Given the description of an element on the screen output the (x, y) to click on. 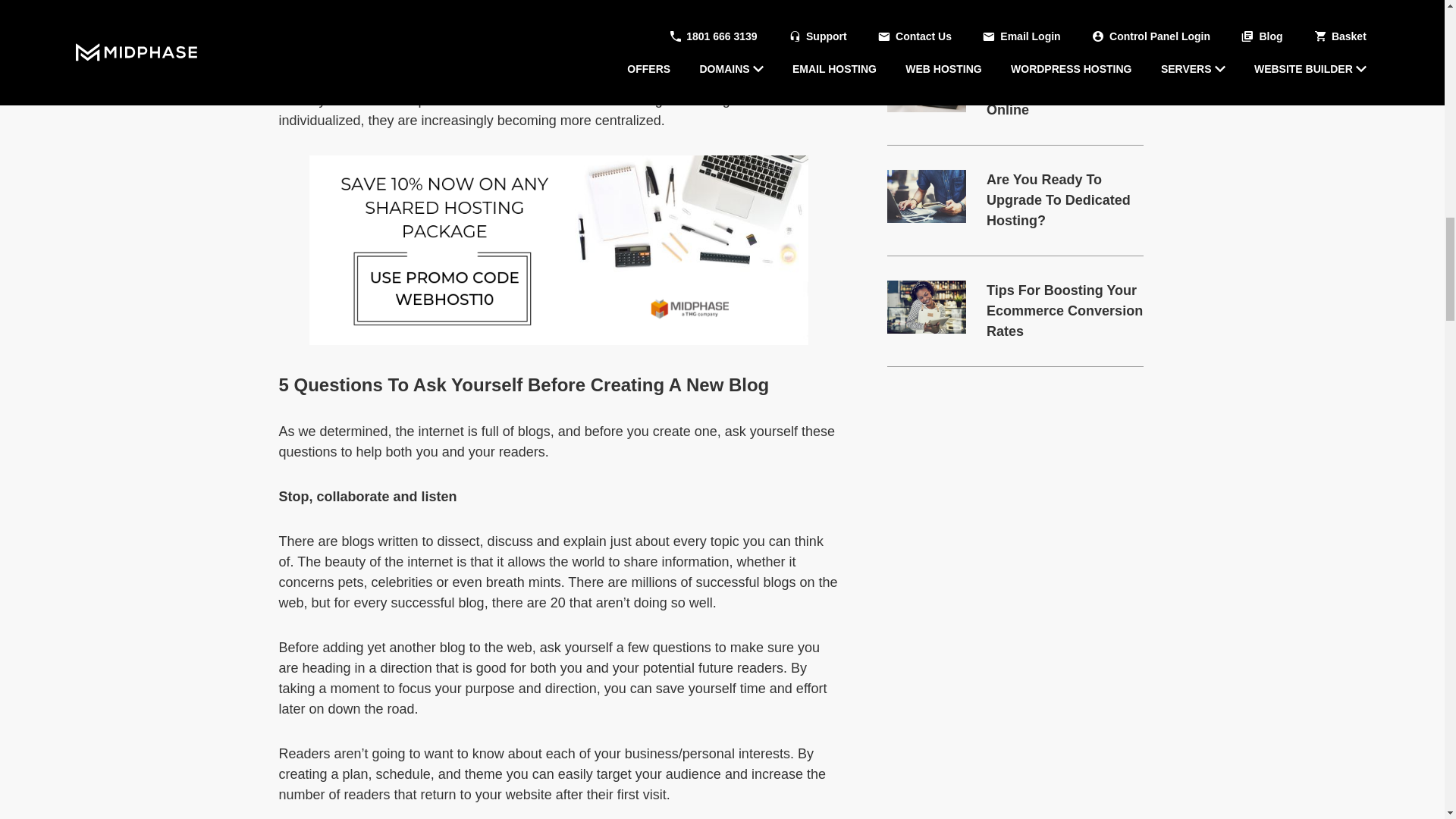
Are You Ready To Upgrade To Dedicated Hosting? (1064, 199)
Are You Ready To Upgrade To Dedicated Hosting? (926, 195)
